Given the description of an element on the screen output the (x, y) to click on. 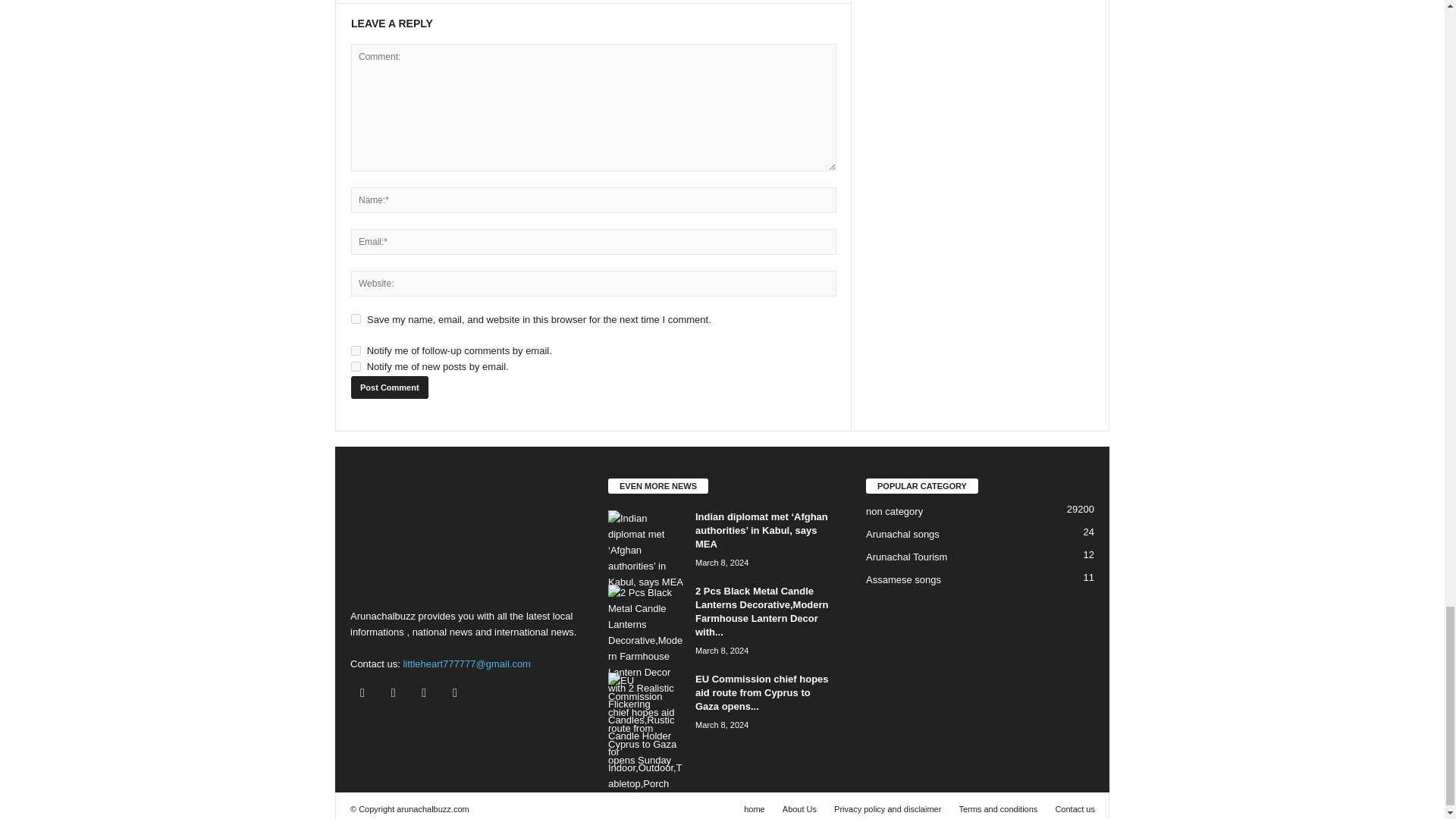
yes (355, 318)
subscribe (355, 366)
Post Comment (389, 386)
subscribe (355, 350)
